Given the description of an element on the screen output the (x, y) to click on. 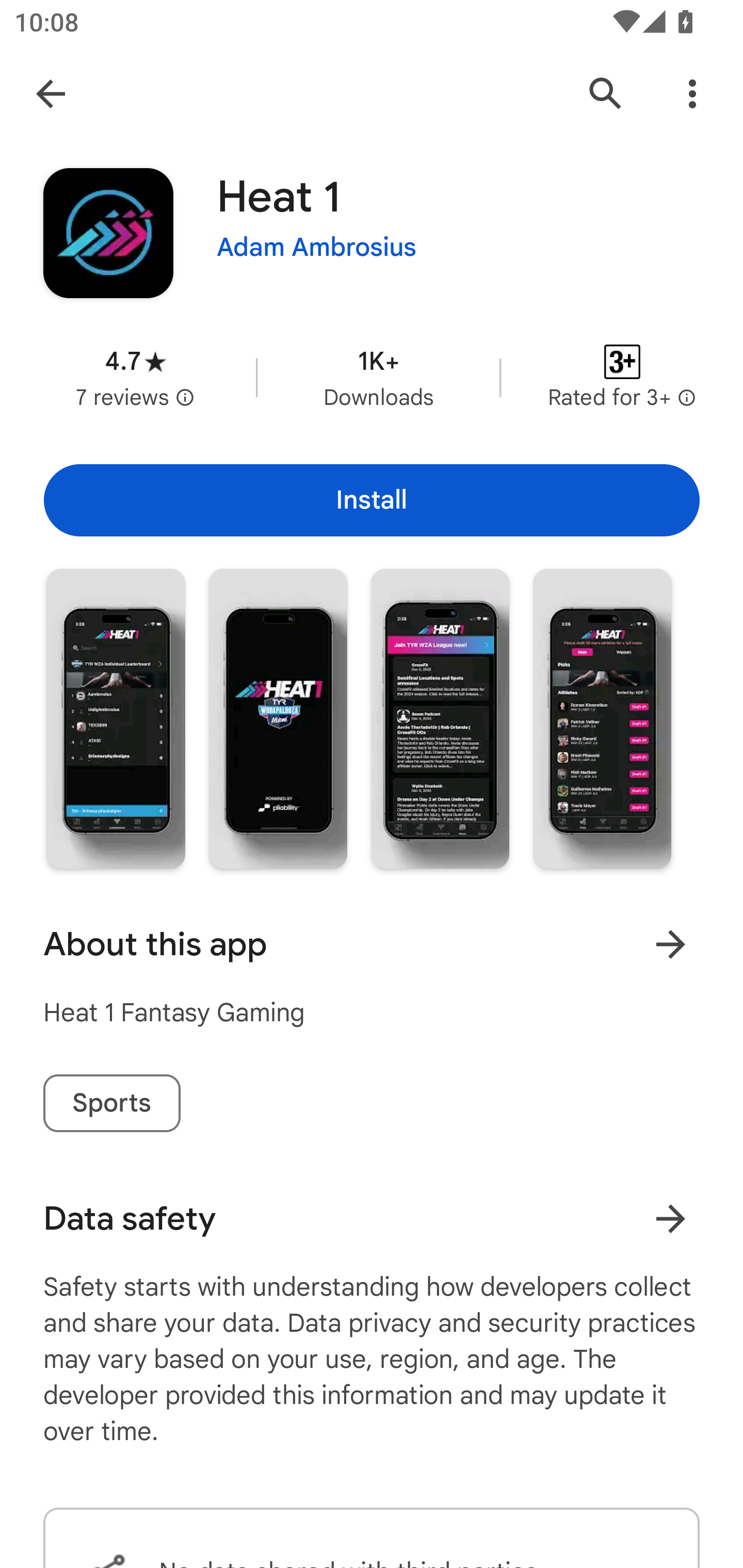
Navigate up (50, 93)
Search Google Play (605, 93)
More Options (692, 93)
Adam Ambrosius (316, 247)
Average rating 4.7 stars in 7 reviews (135, 377)
Content rating Rated for 3+ (622, 377)
Install (371, 500)
Screenshot "1" of "4" (115, 718)
Screenshot "2" of "4" (277, 718)
Screenshot "3" of "4" (439, 718)
Screenshot "4" of "4" (601, 718)
About this app Learn more About this app (371, 944)
Learn more About this app (670, 944)
Sports tag (111, 1102)
Data safety Learn more about data safety (371, 1219)
Learn more about data safety (670, 1219)
